Given the description of an element on the screen output the (x, y) to click on. 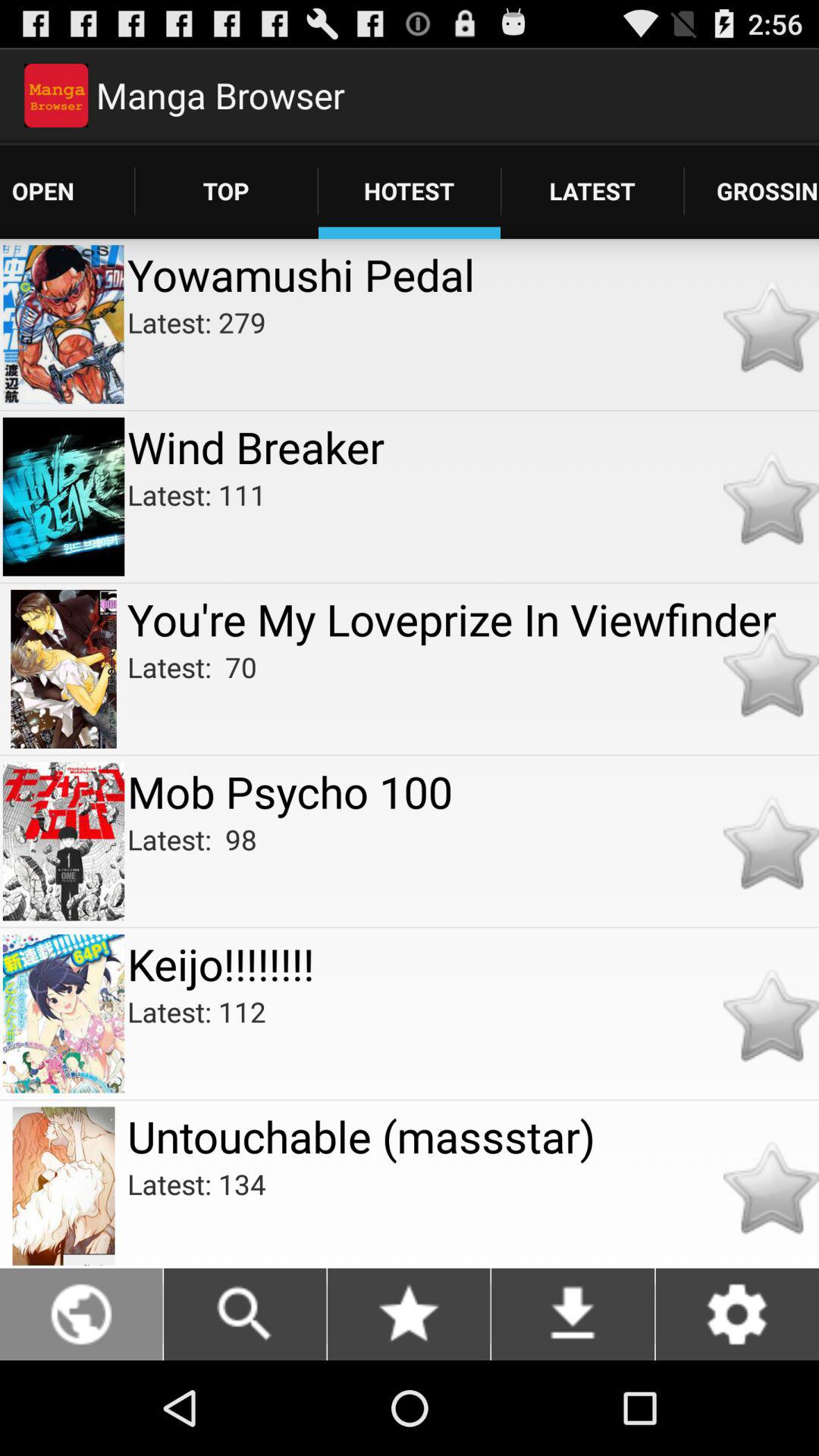
turn on the you re my (473, 618)
